Given the description of an element on the screen output the (x, y) to click on. 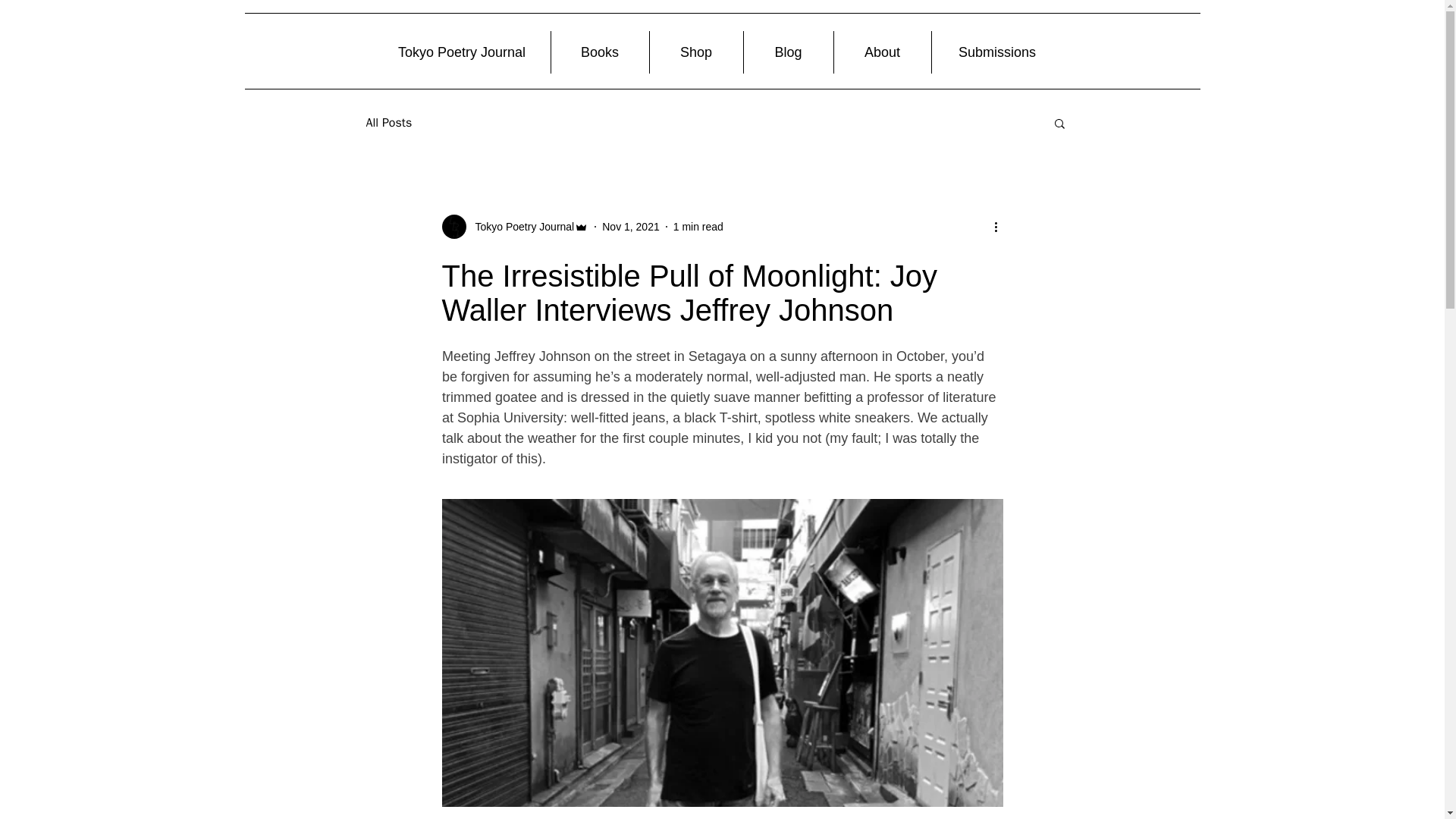
Tokyo Poetry Journal (461, 52)
Books (598, 52)
Shop (695, 52)
Tokyo Poetry Journal (519, 226)
Submissions (996, 52)
Blog (787, 52)
All Posts (388, 123)
1 min read (697, 225)
Nov 1, 2021 (630, 225)
About (882, 52)
